Given the description of an element on the screen output the (x, y) to click on. 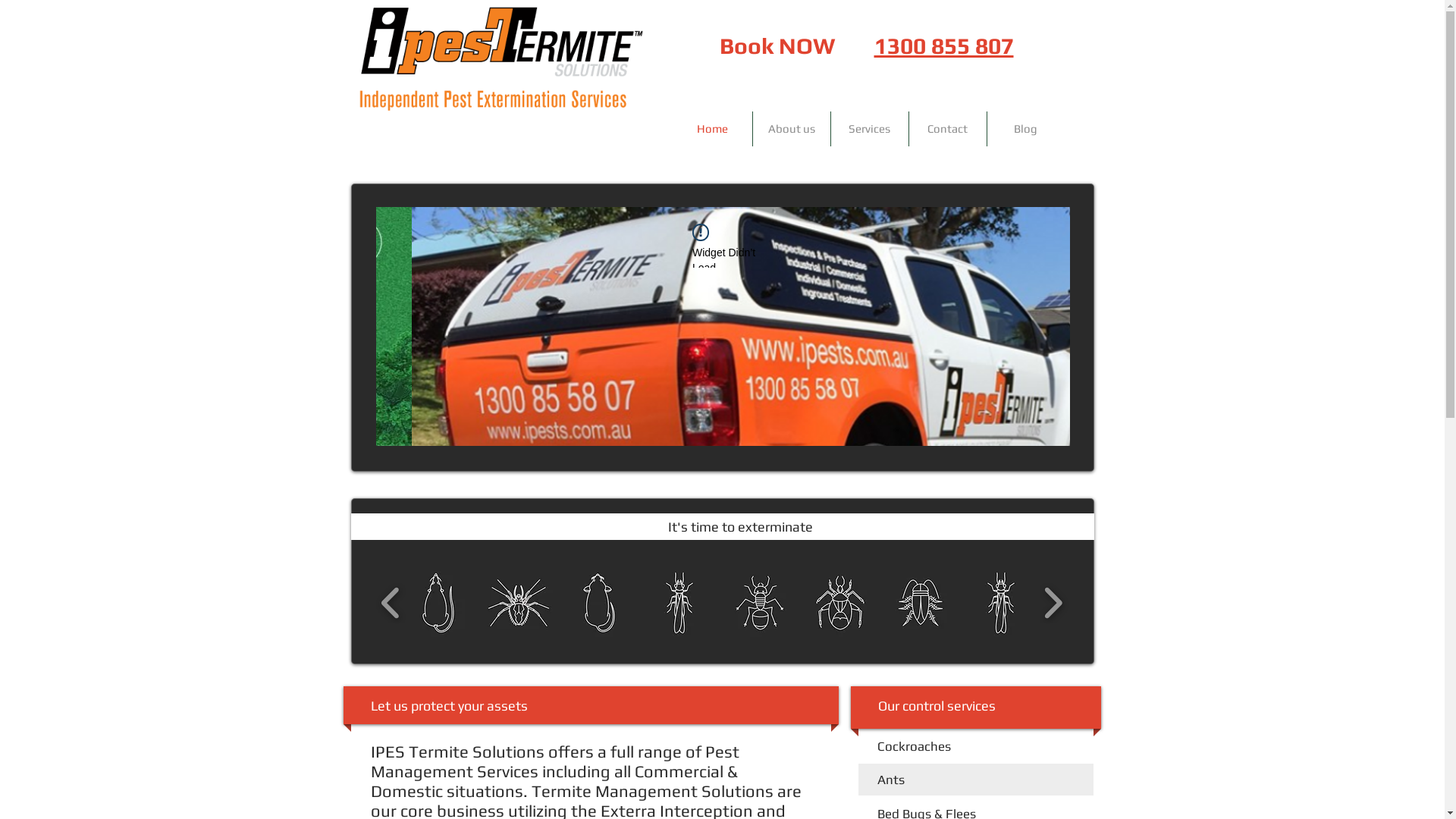
Services Element type: text (869, 128)
Ants Element type: text (889, 779)
About us Element type: text (790, 128)
1300 855 807 Element type: text (943, 45)
Book NOW Element type: text (776, 45)
Contact Element type: text (946, 128)
Blog Element type: text (1025, 128)
indpendant.PNG Element type: hover (499, 57)
Home Element type: text (712, 128)
